Given the description of an element on the screen output the (x, y) to click on. 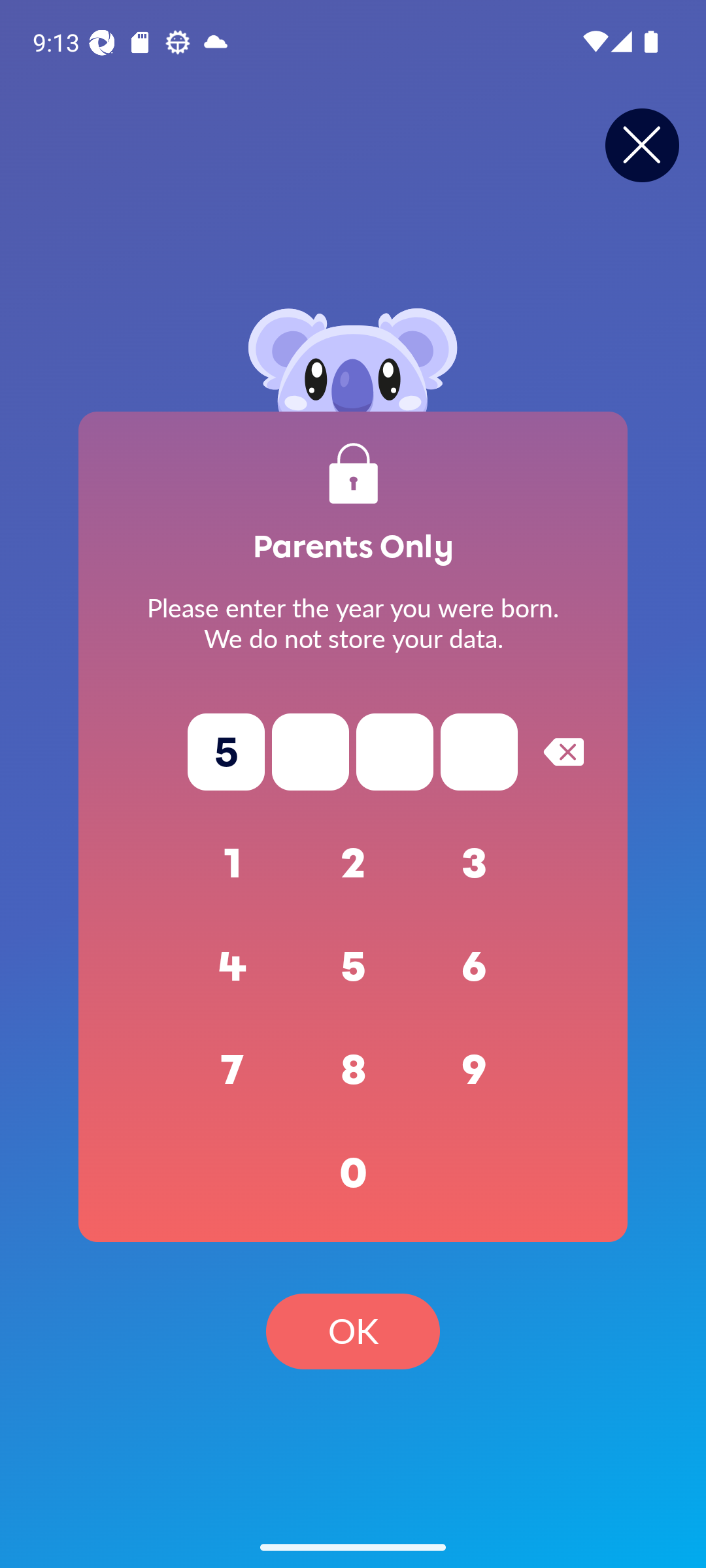
Delete (563, 751)
1 (232, 863)
2 (353, 863)
3 (474, 863)
4 (232, 966)
5 (353, 966)
6 (474, 966)
7 (232, 1069)
8 (353, 1069)
9 (474, 1069)
0 (353, 1173)
OK (352, 1331)
